Given the description of an element on the screen output the (x, y) to click on. 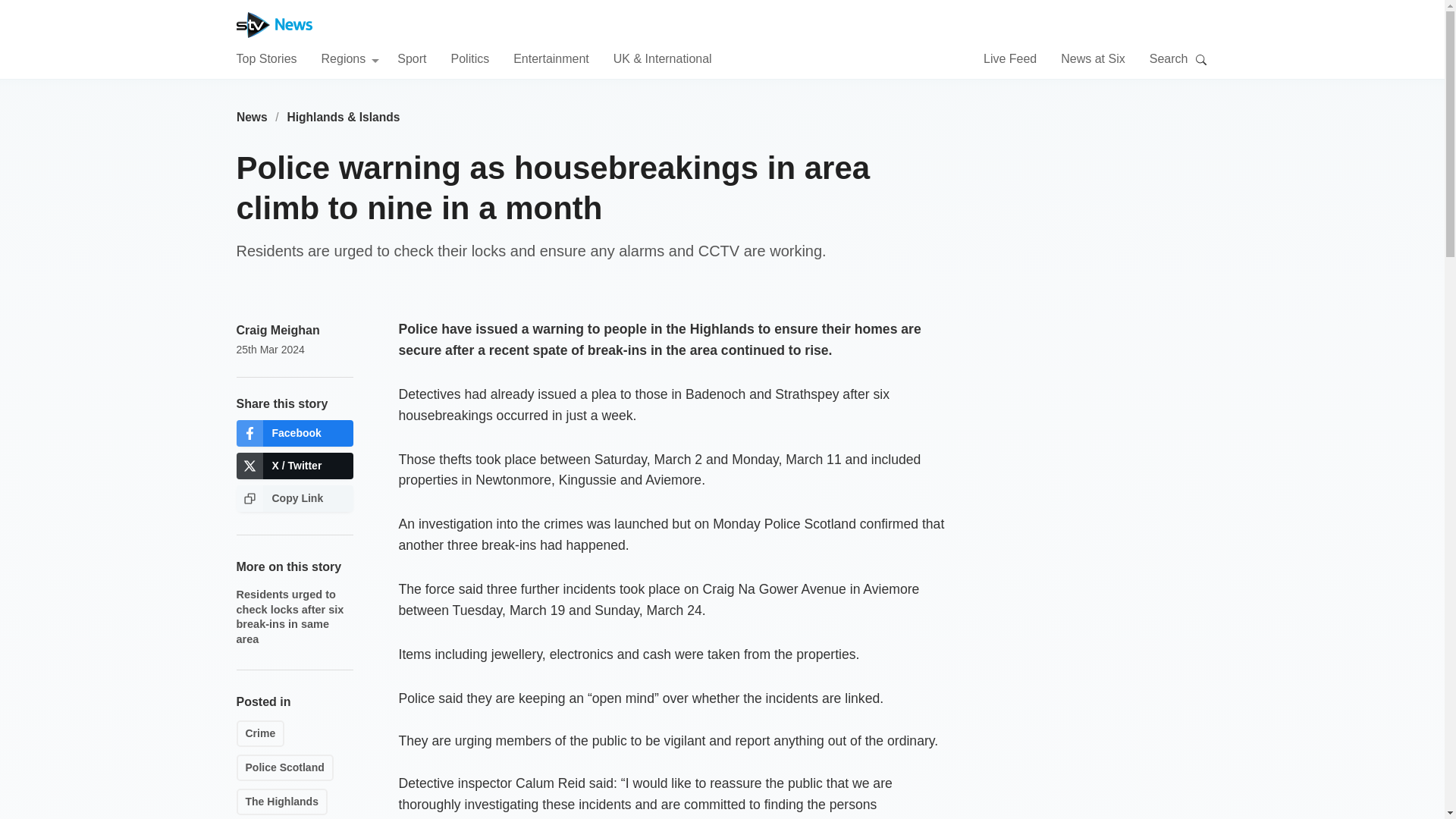
News (252, 116)
Politics (469, 57)
Entertainment (551, 57)
Regions (350, 57)
Top Stories (266, 57)
News at Six (1092, 57)
Craig Meighan (277, 329)
Facebook (294, 433)
Search (1201, 59)
Live Feed (1010, 57)
